Given the description of an element on the screen output the (x, y) to click on. 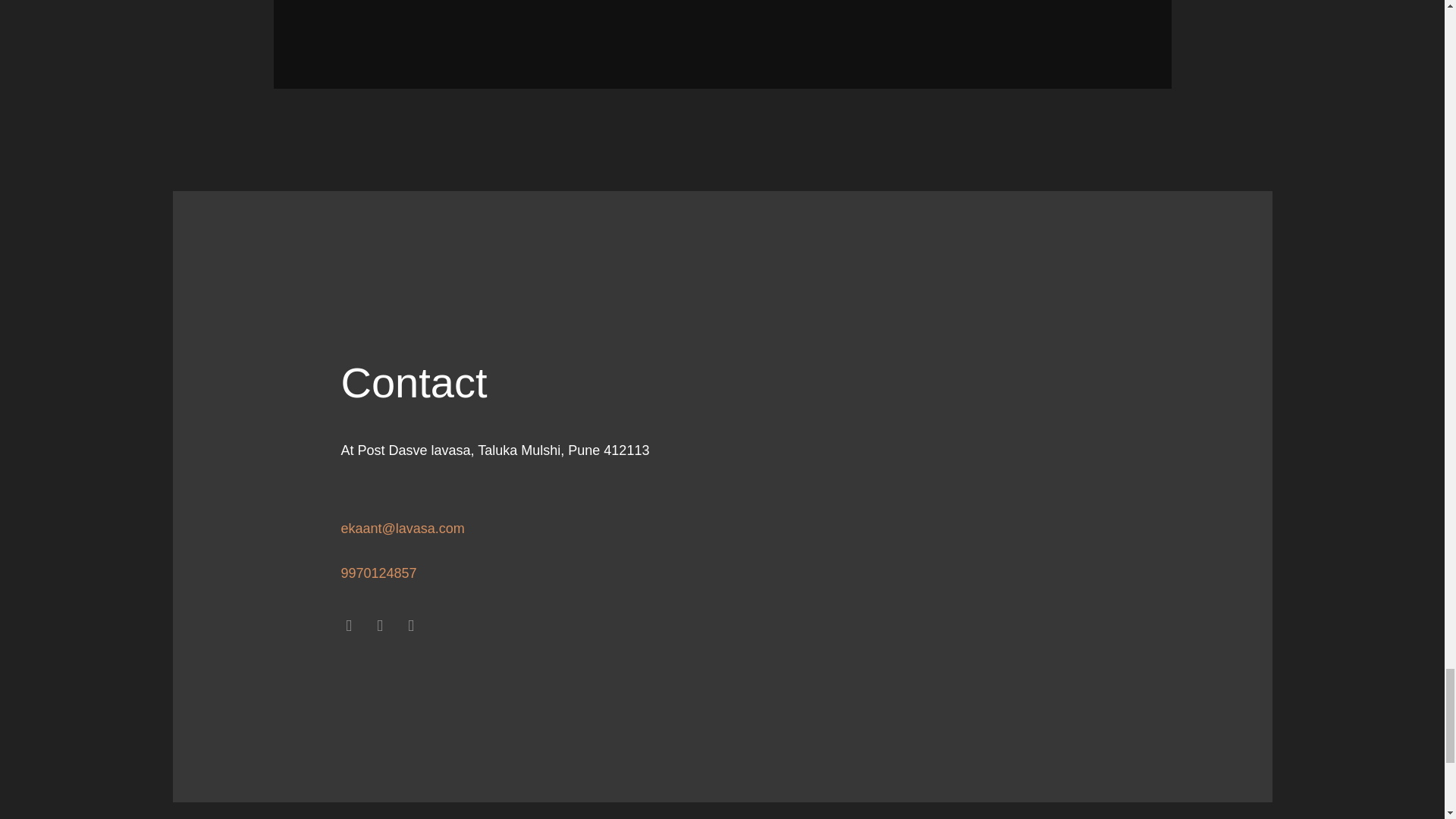
Facebook (348, 625)
9970124857 (378, 572)
Twitter (379, 625)
